Given the description of an element on the screen output the (x, y) to click on. 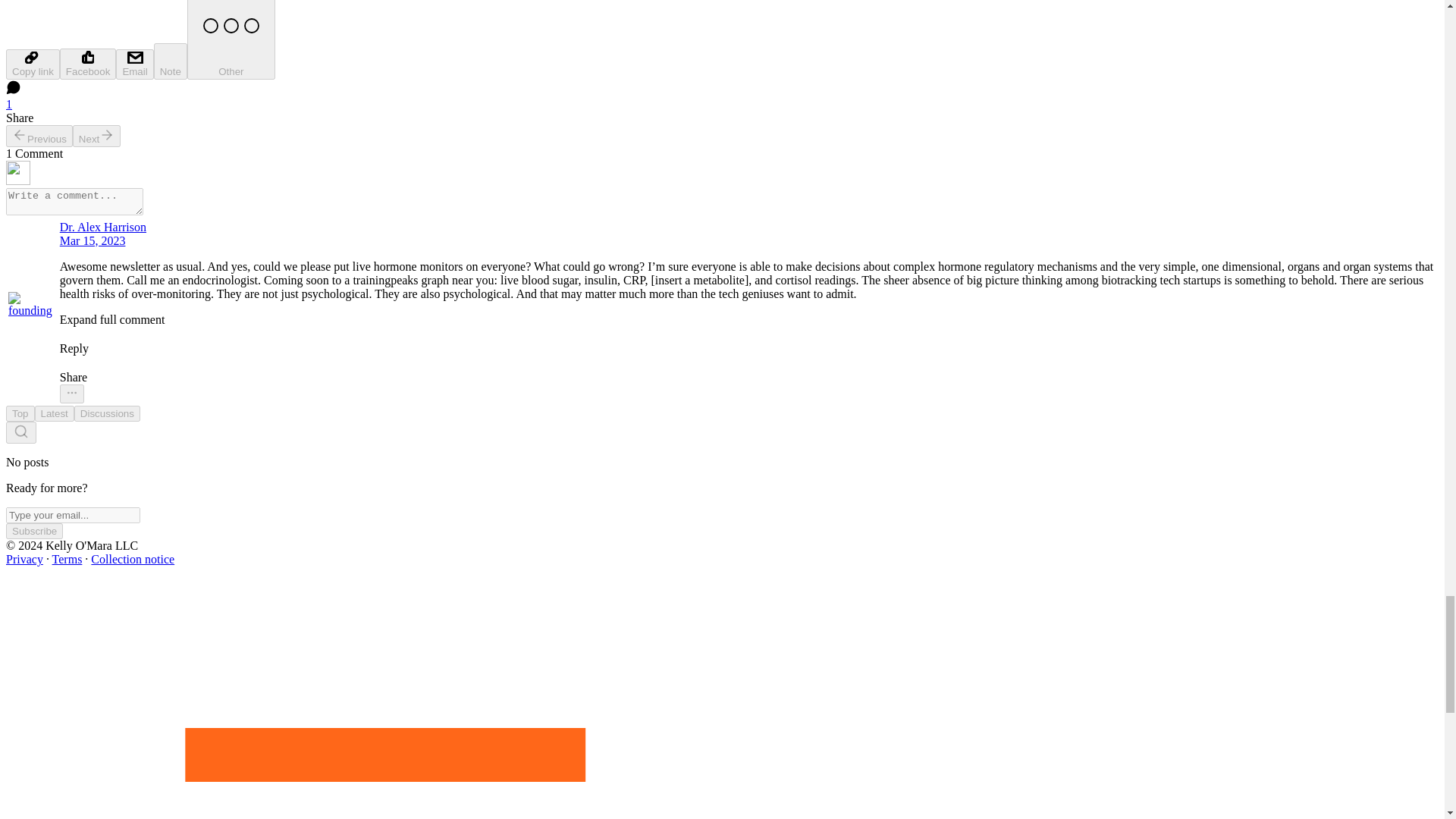
Founding Member (32, 324)
Founding Member (13, 322)
